Given the description of an element on the screen output the (x, y) to click on. 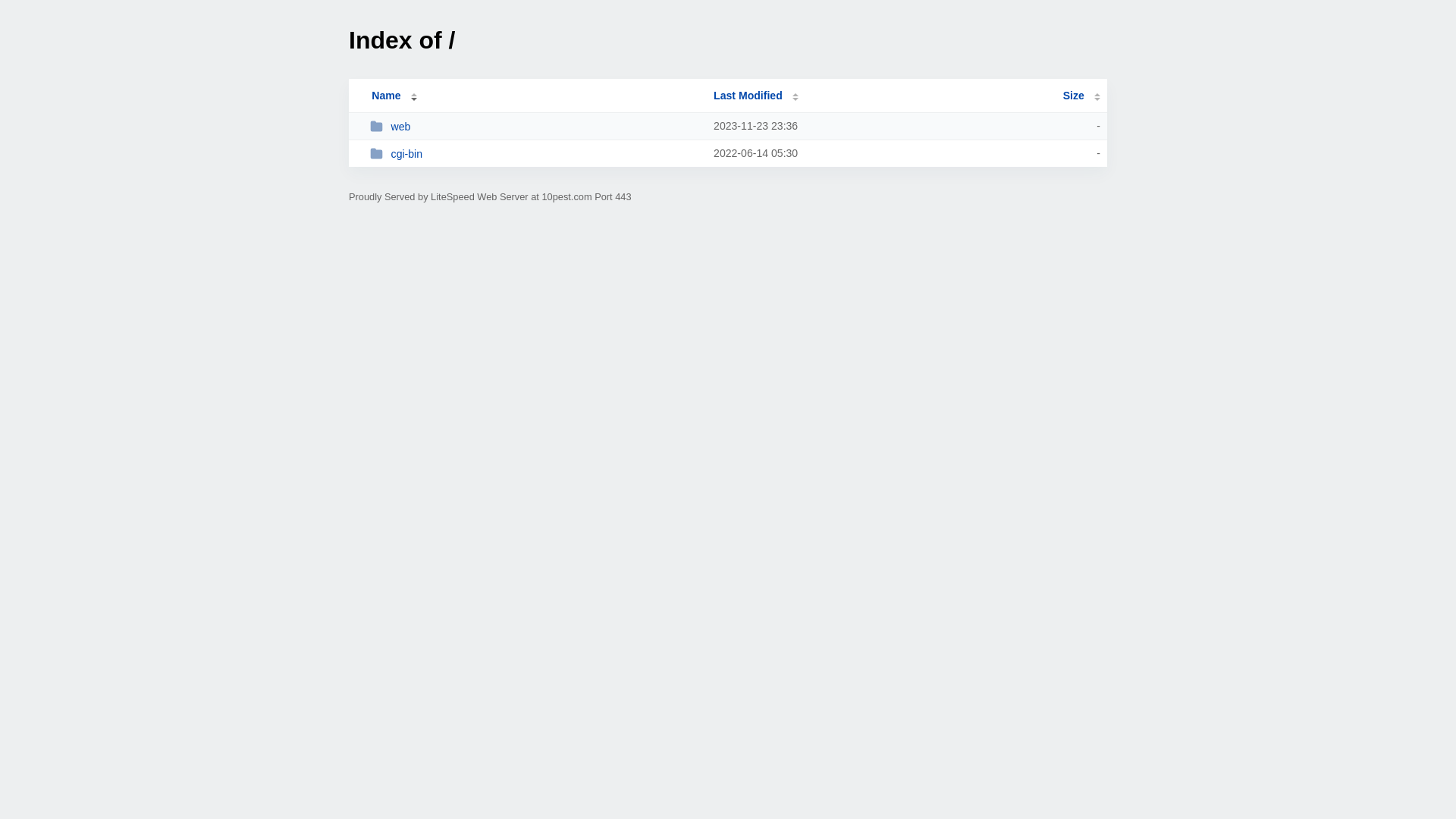
Name Element type: text (385, 95)
web Element type: text (534, 125)
cgi-bin Element type: text (534, 153)
Size Element type: text (1081, 95)
Last Modified Element type: text (755, 95)
